Given the description of an element on the screen output the (x, y) to click on. 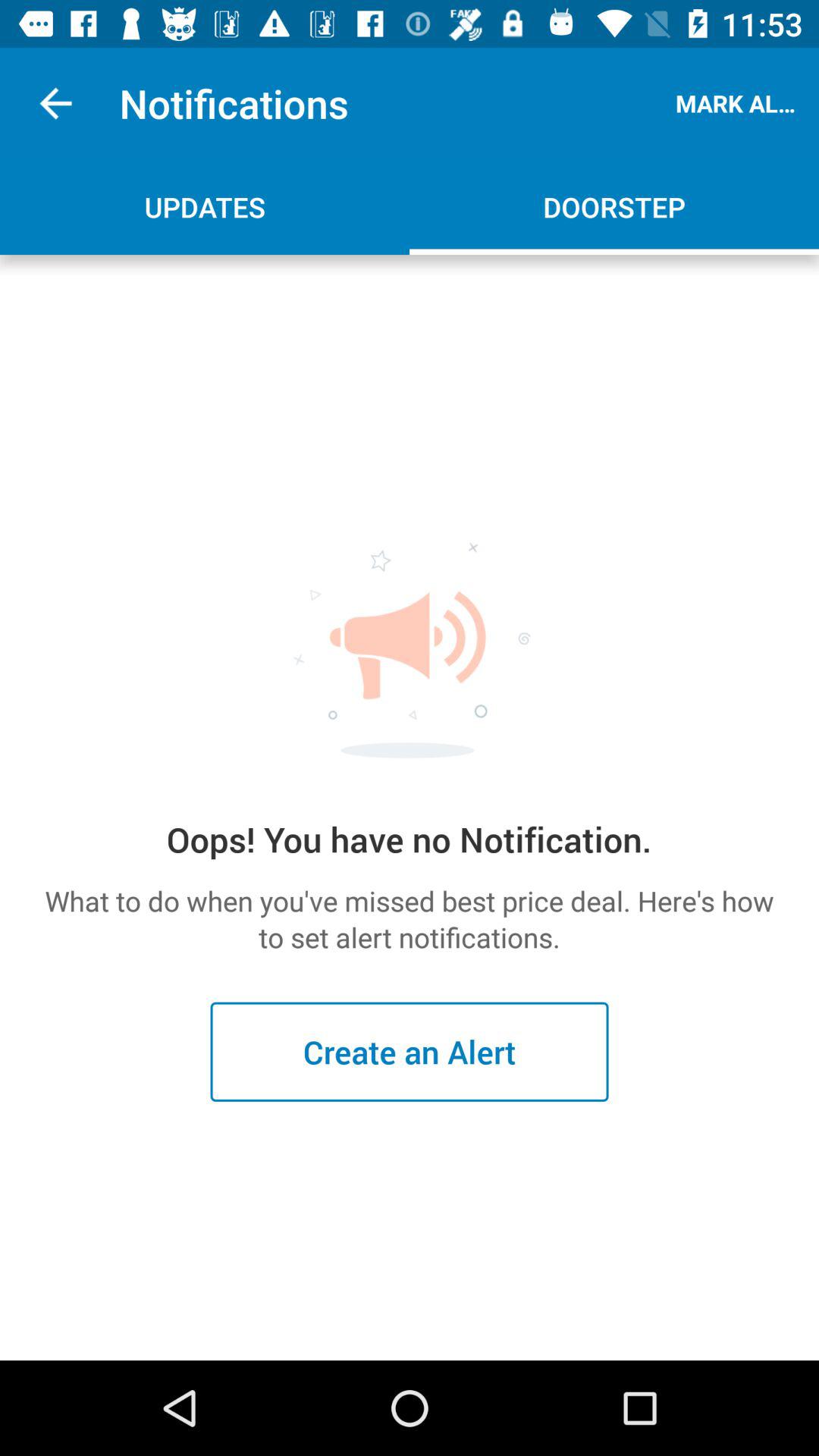
turn off icon to the left of the notifications icon (55, 103)
